Given the description of an element on the screen output the (x, y) to click on. 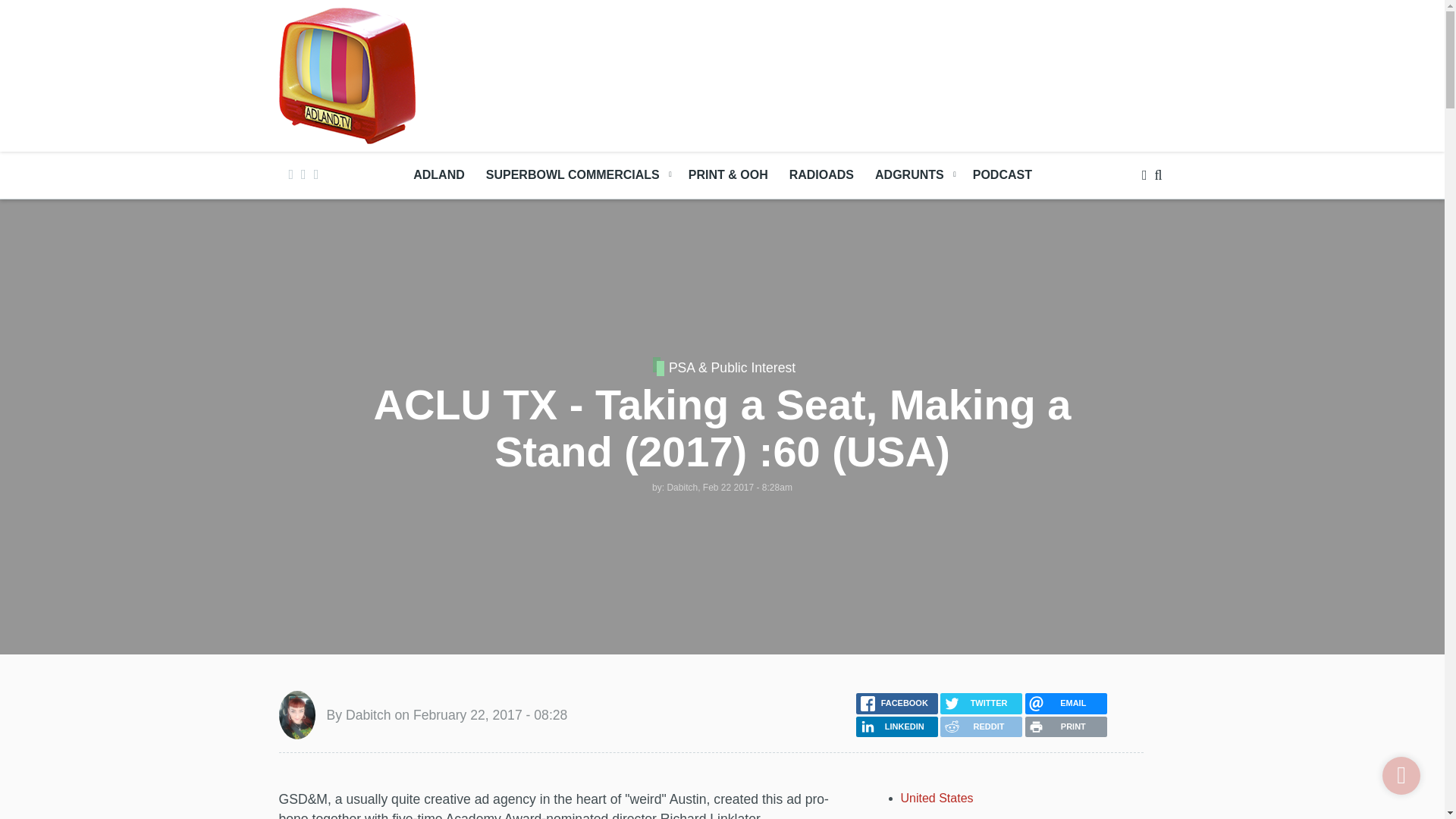
SUPERBOWL COMMERCIALS (577, 175)
Home (346, 74)
ADLAND (439, 175)
